Given the description of an element on the screen output the (x, y) to click on. 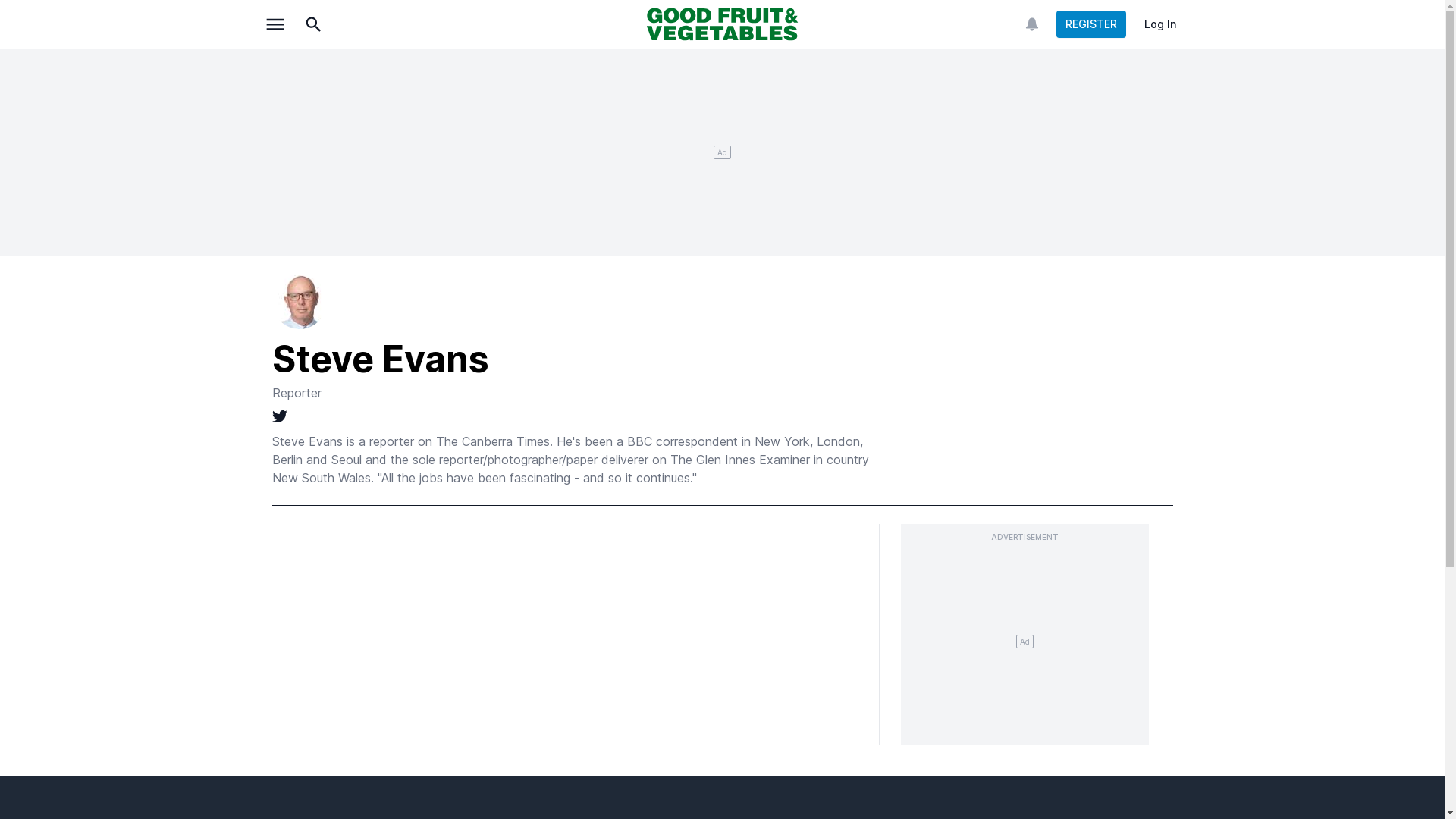
Log In Element type: text (1159, 23)
REGISTER Element type: text (1090, 23)
